Given the description of an element on the screen output the (x, y) to click on. 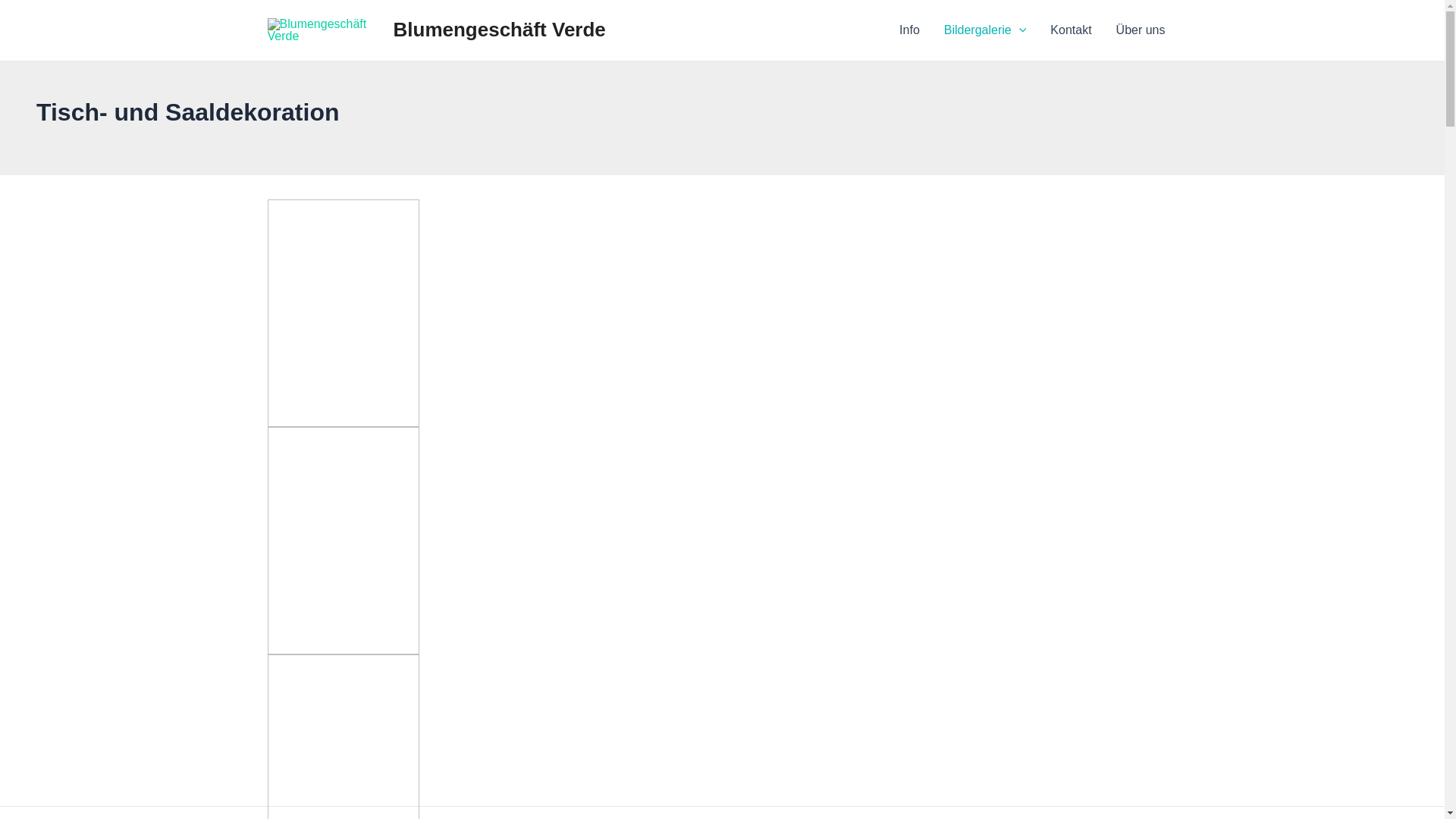
Info Element type: text (909, 30)
Tisch und Saaldeko (5) Element type: hover (342, 540)
Tisch und Saaldeko (1) Element type: hover (342, 312)
Kontakt Element type: text (1070, 30)
Bildergalerie Element type: text (984, 30)
